Given the description of an element on the screen output the (x, y) to click on. 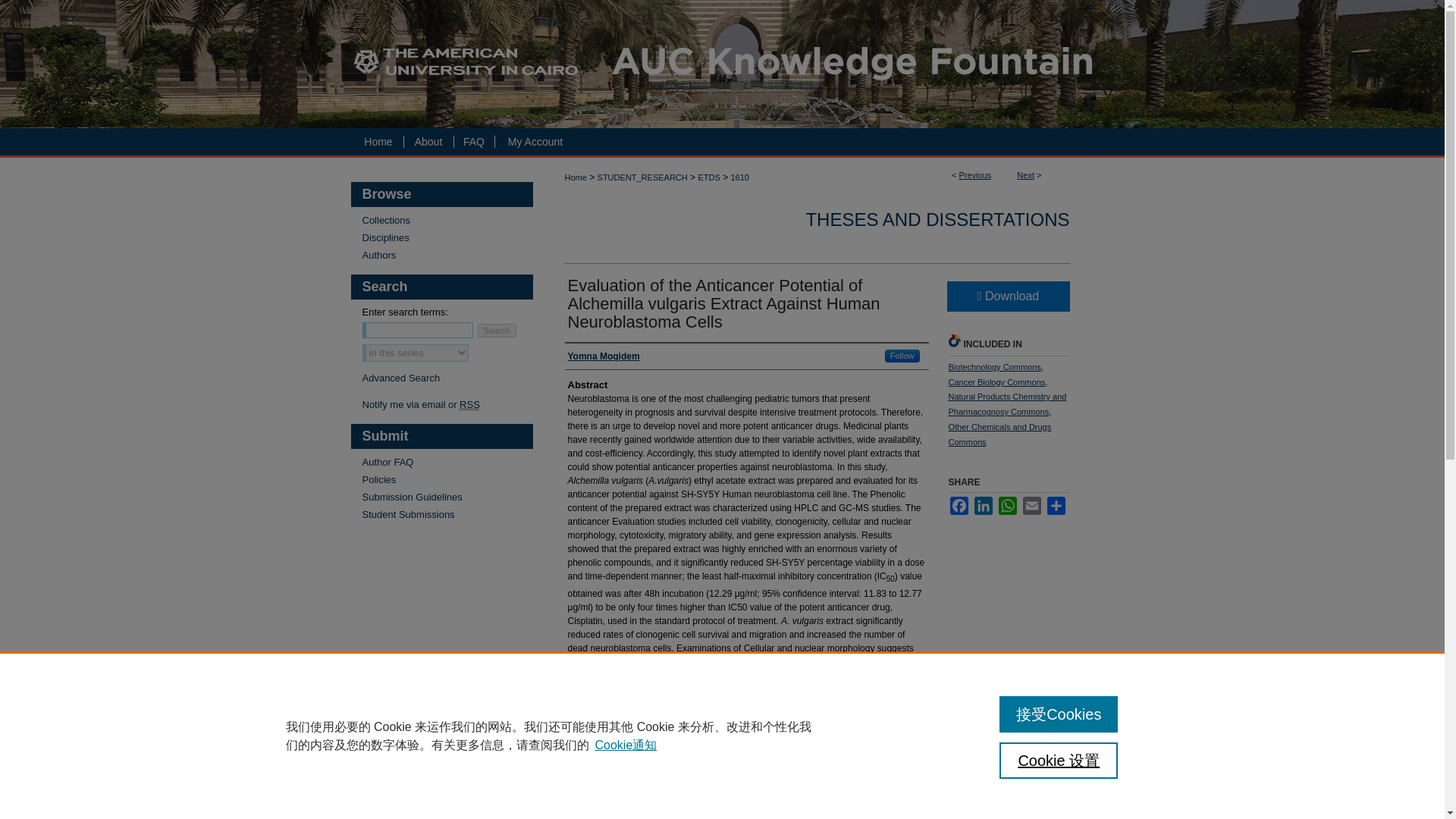
Advanced Search (401, 378)
ETDS (708, 176)
Home (376, 141)
Home (575, 176)
My Account (535, 141)
Previous (975, 174)
AUC Knowledge Fountain (721, 63)
Collections (447, 220)
Home (376, 141)
FAQ (473, 141)
About (427, 141)
Facebook (958, 505)
Biotechnology Commons (994, 366)
Biotechnology Commons (994, 366)
1610 (739, 176)
